Given the description of an element on the screen output the (x, y) to click on. 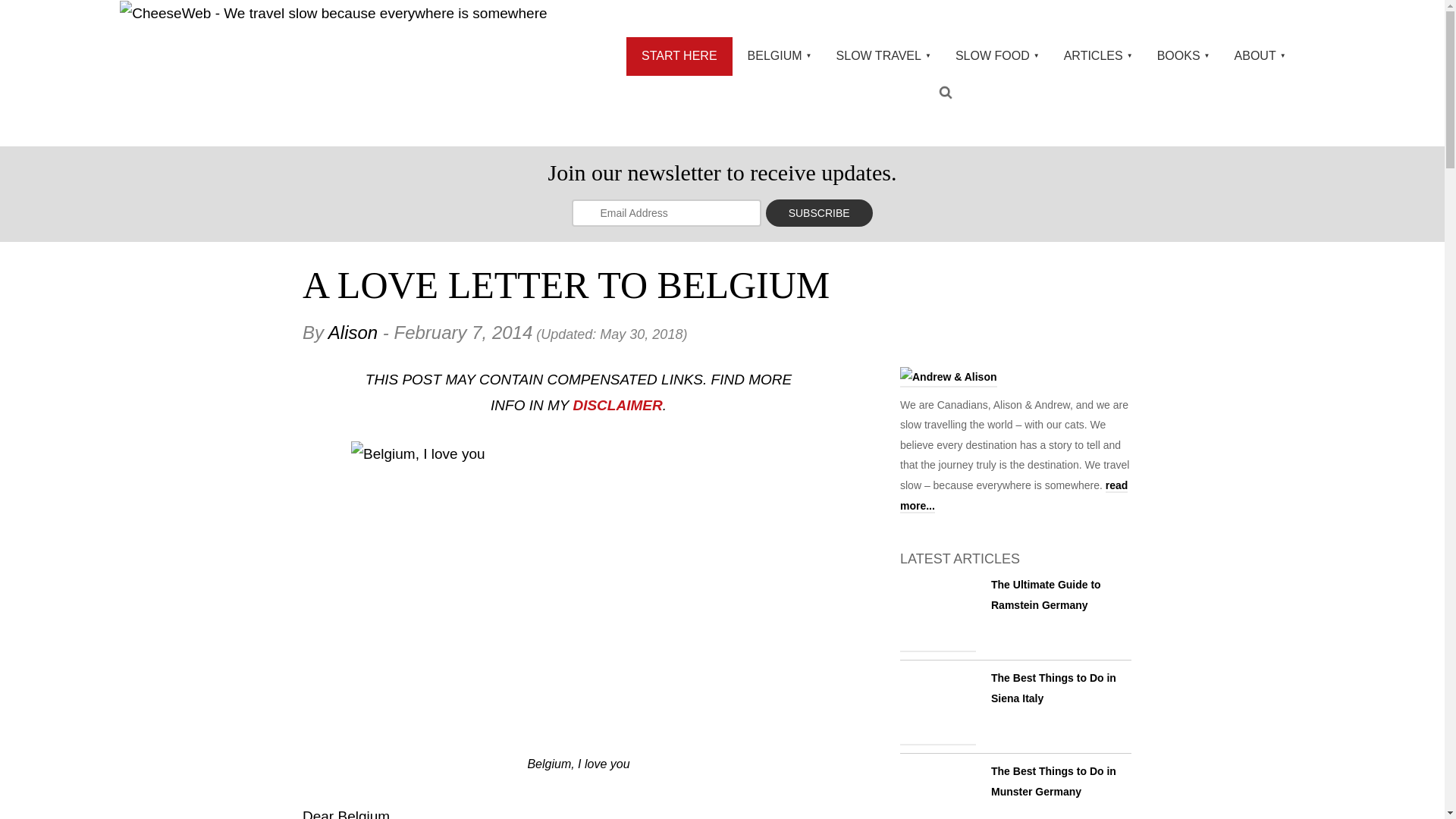
The Best Things to Do in Munster Germany (937, 790)
The Ultimate Guide to Ramstein Germany (937, 612)
About (948, 380)
The Ultimate Guide to Ramstein Germany (1045, 594)
SLOW TRAVEL (880, 56)
START HERE (679, 56)
BELGIUM (776, 56)
The Best Things to Do in Munster Germany (1053, 780)
The Best Things to Do in Siena Italy (1053, 687)
About (1012, 496)
CheeseWeb (333, 13)
Subscribe (818, 212)
The Best Things to Do in Siena Italy (937, 706)
